Given the description of an element on the screen output the (x, y) to click on. 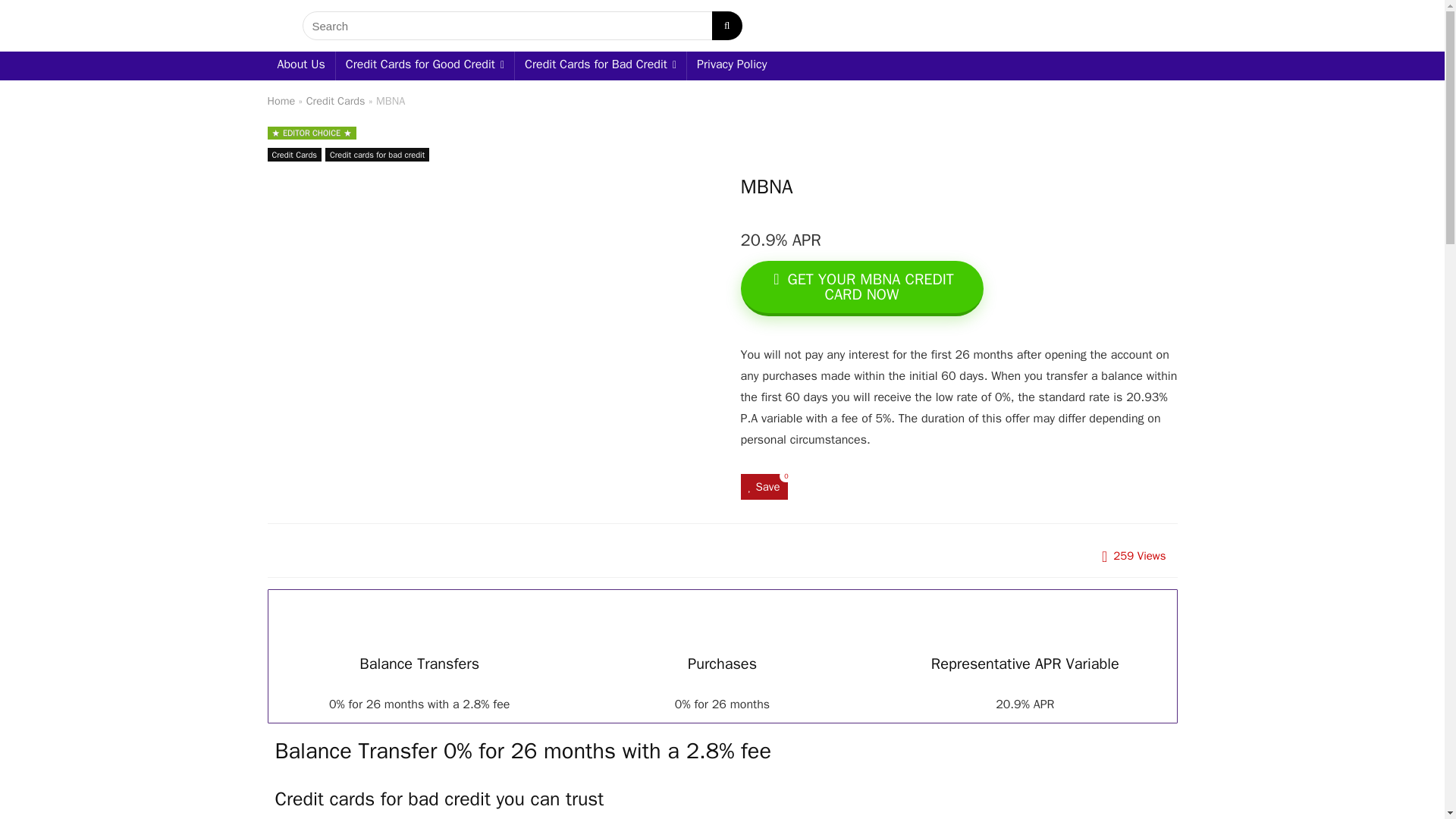
Credit Cards for Good Credit (424, 65)
View all posts in Credit Cards (293, 154)
View all posts in Credit cards for bad credit (376, 154)
About Us (300, 65)
